Given the description of an element on the screen output the (x, y) to click on. 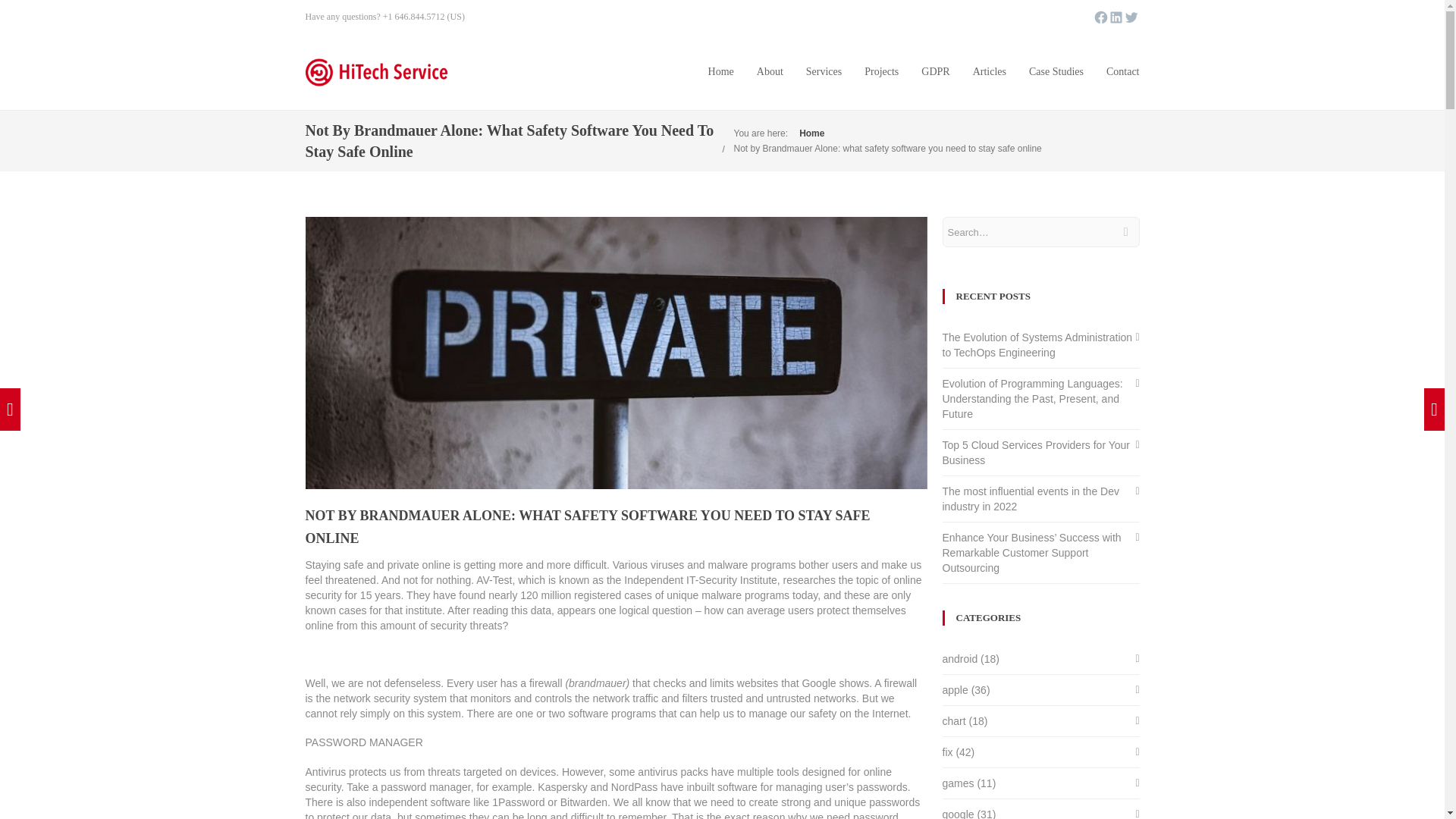
Case Studies (1056, 71)
GDPR (935, 71)
Contact (1123, 71)
About (770, 71)
Home (811, 132)
Projects (881, 71)
Articles (989, 71)
Home (720, 71)
Services (823, 71)
Home (720, 71)
